Given the description of an element on the screen output the (x, y) to click on. 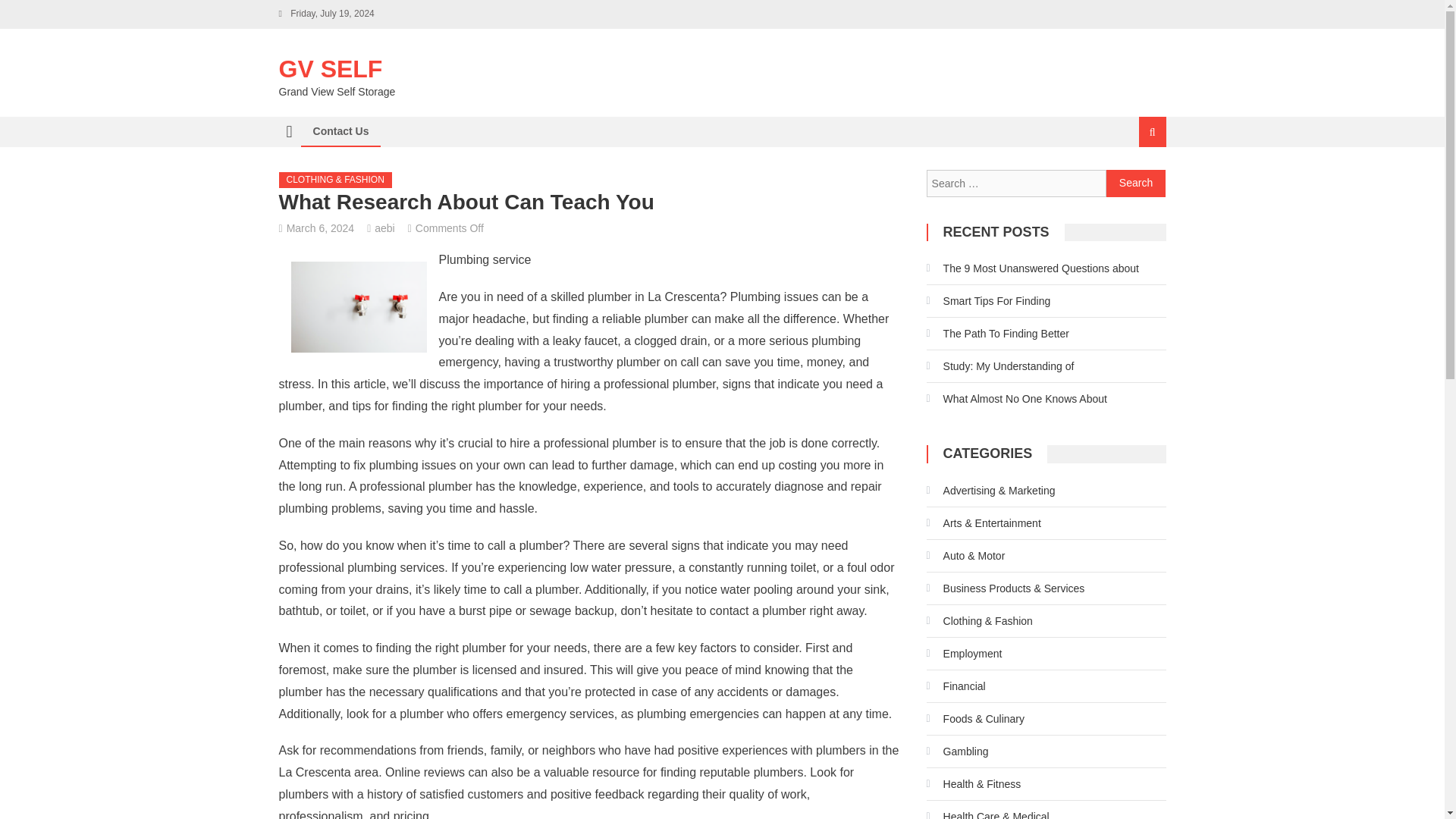
Search (1136, 183)
Smart Tips For Finding (988, 300)
Search (1133, 182)
Search (1136, 183)
The 9 Most Unanswered Questions about (1032, 268)
March 6, 2024 (320, 227)
The Path To Finding Better (997, 333)
GV SELF (330, 68)
aebi (384, 227)
Contact Us (340, 131)
What Almost No One Knows About (1016, 398)
Search (1136, 183)
Study: My Understanding of (1000, 365)
